Given the description of an element on the screen output the (x, y) to click on. 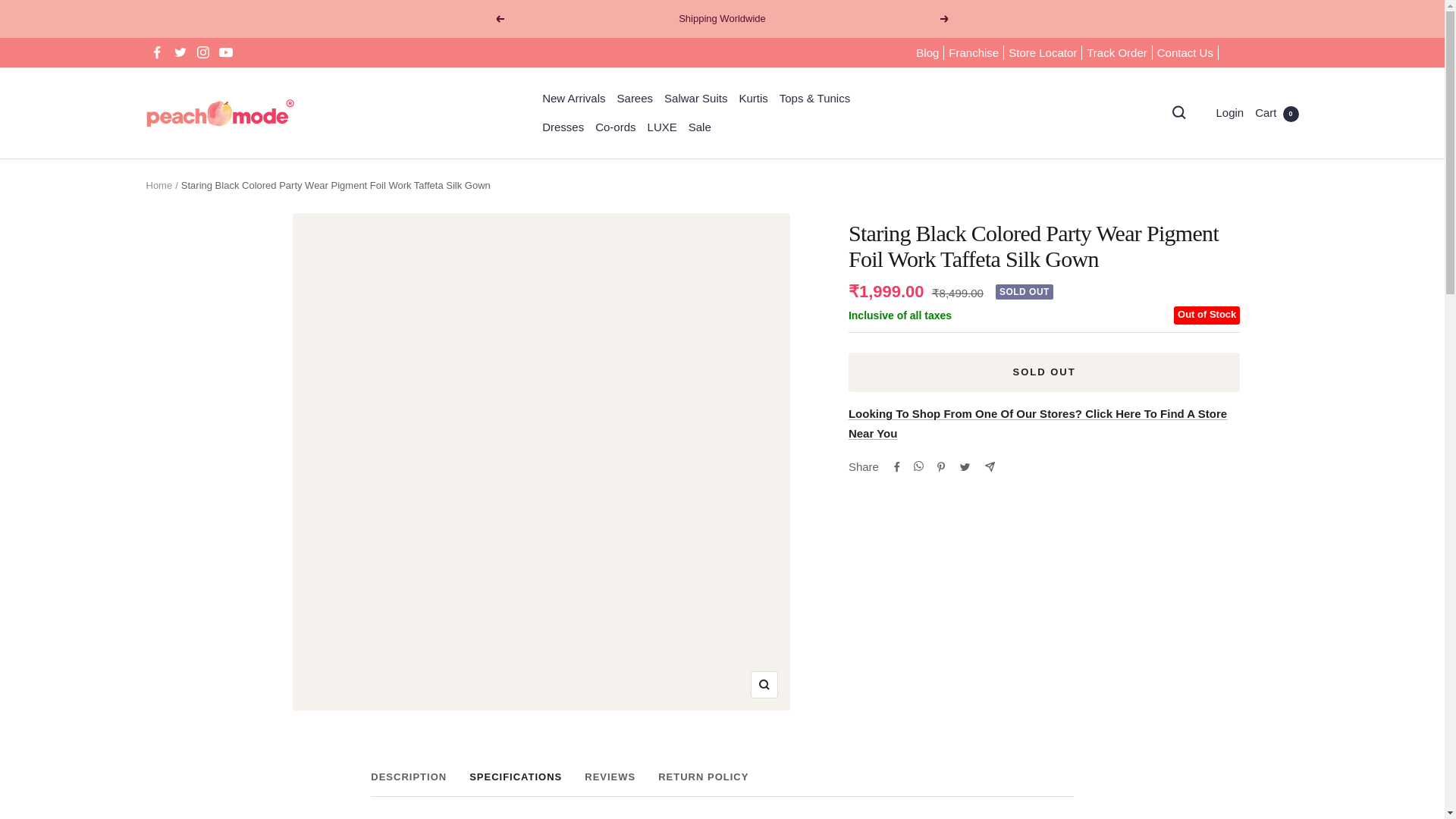
JP (1201, 479)
DK (1201, 229)
NL (1201, 579)
FJ (1201, 254)
FI (1201, 279)
NO (1201, 629)
PT (1201, 680)
NZ (1201, 605)
Track Order (722, 783)
Franchise (1116, 52)
MU (973, 52)
KW (1201, 555)
MY (1201, 505)
PL (1201, 529)
